Given the description of an element on the screen output the (x, y) to click on. 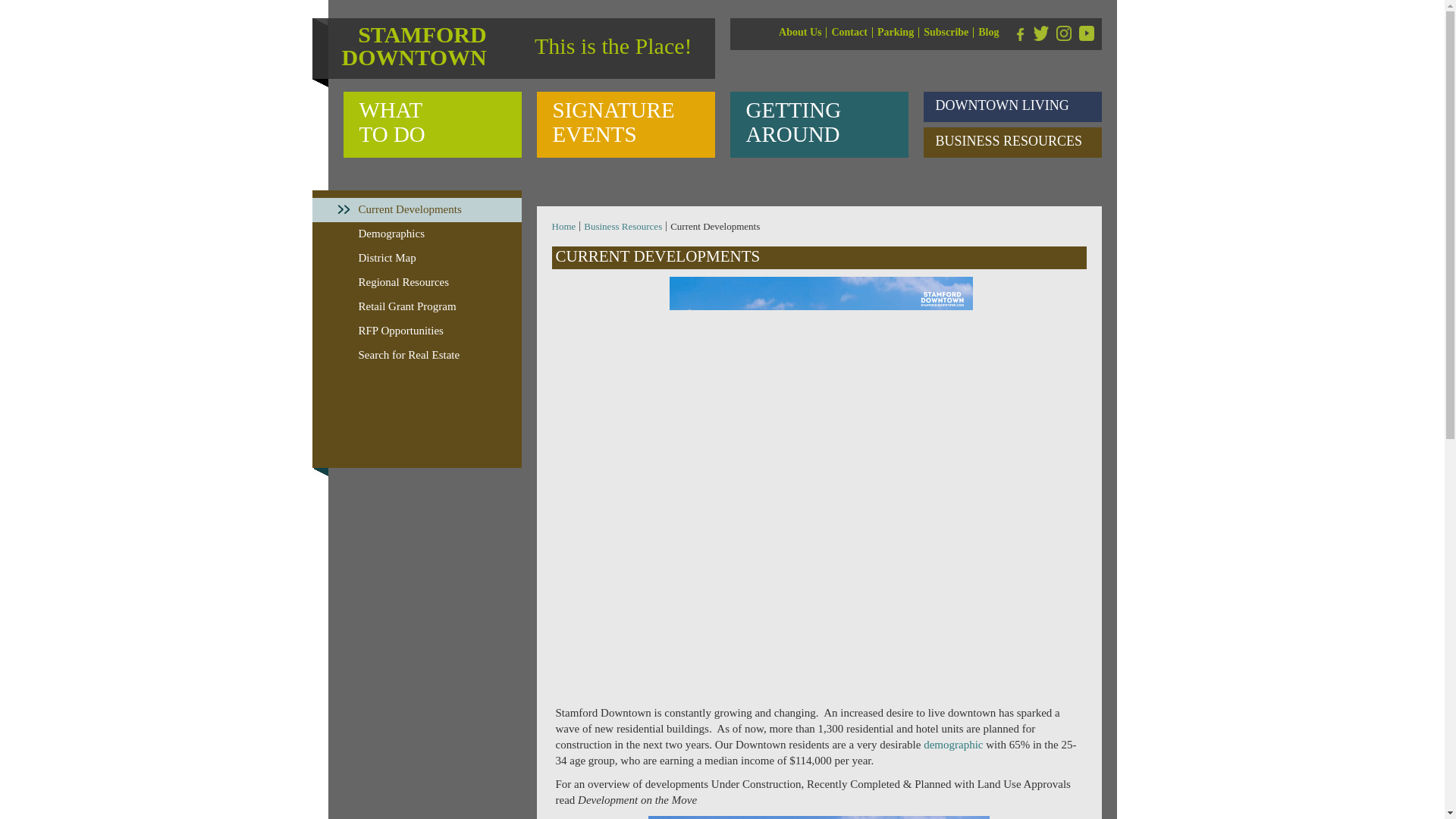
Twitter (1040, 32)
What To Do (431, 124)
YouTube (818, 124)
Blog (1085, 32)
DOWNTOWN LIVING (988, 32)
Follow us on Facebook (625, 124)
Follow us on YouTube (1012, 106)
About Us (1017, 32)
